Given the description of an element on the screen output the (x, y) to click on. 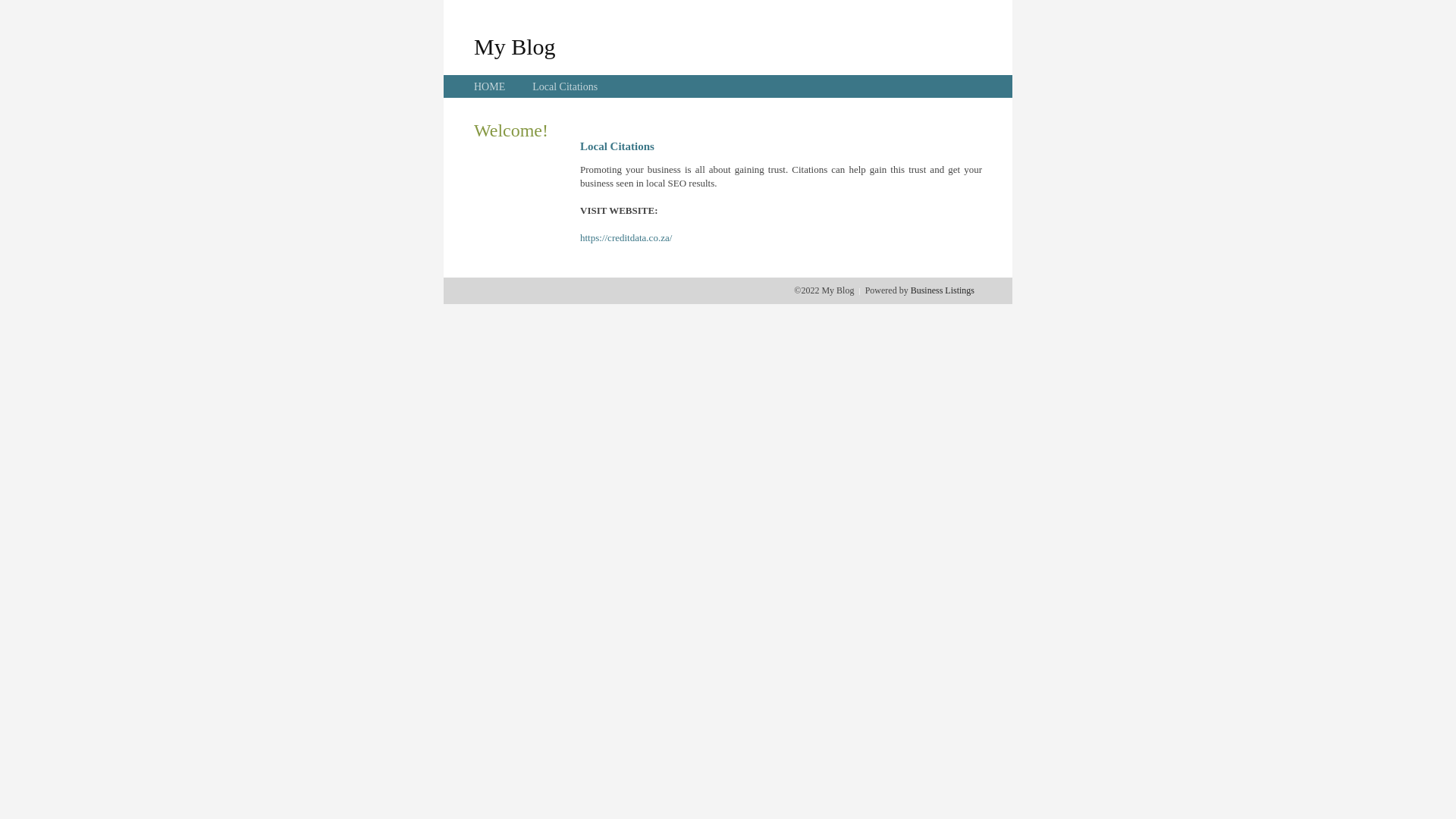
Business Listings Element type: text (942, 290)
My Blog Element type: text (514, 46)
https://creditdata.co.za/ Element type: text (625, 237)
Local Citations Element type: text (564, 86)
HOME Element type: text (489, 86)
